Given the description of an element on the screen output the (x, y) to click on. 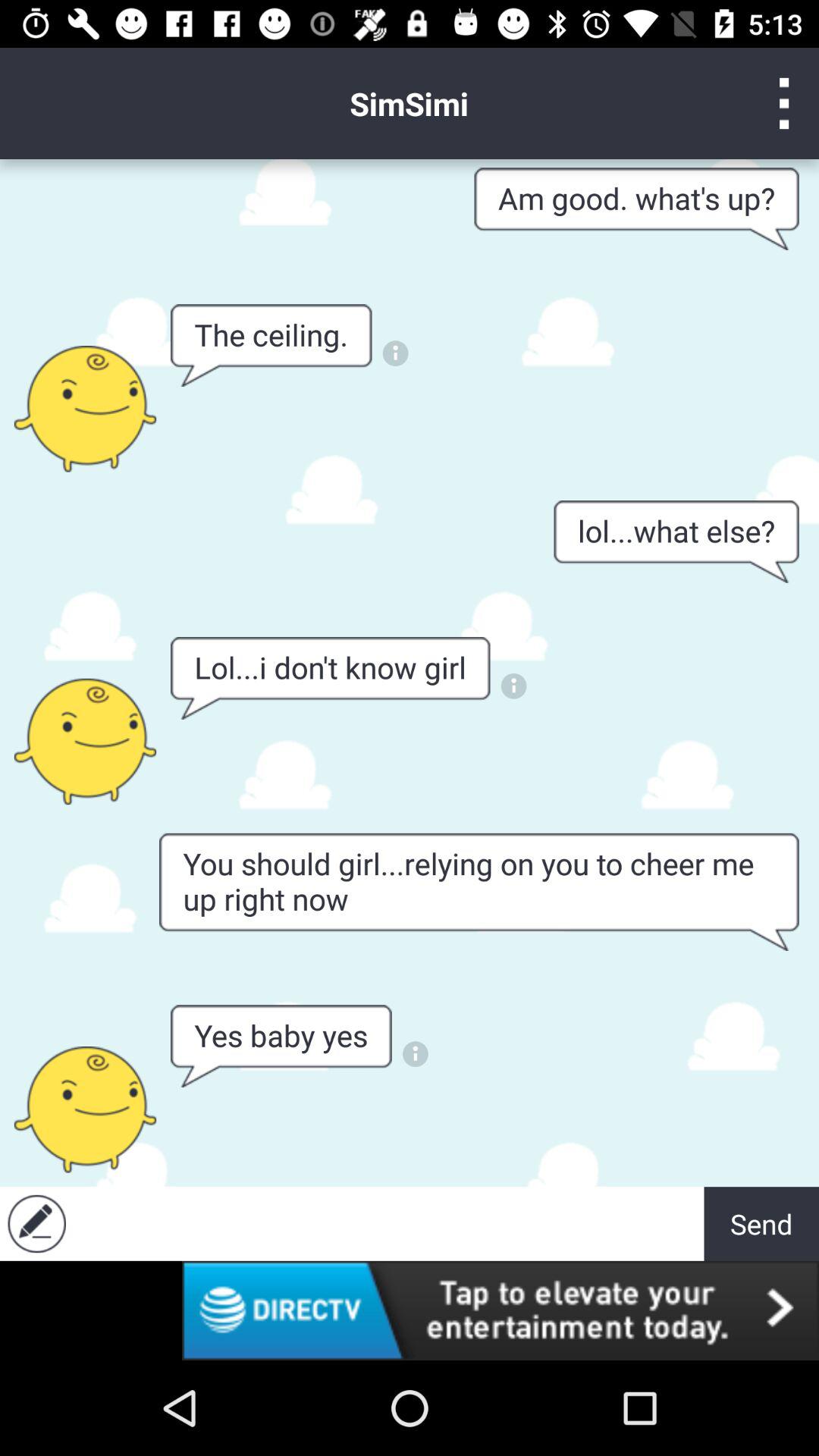
reply (36, 1223)
